Given the description of an element on the screen output the (x, y) to click on. 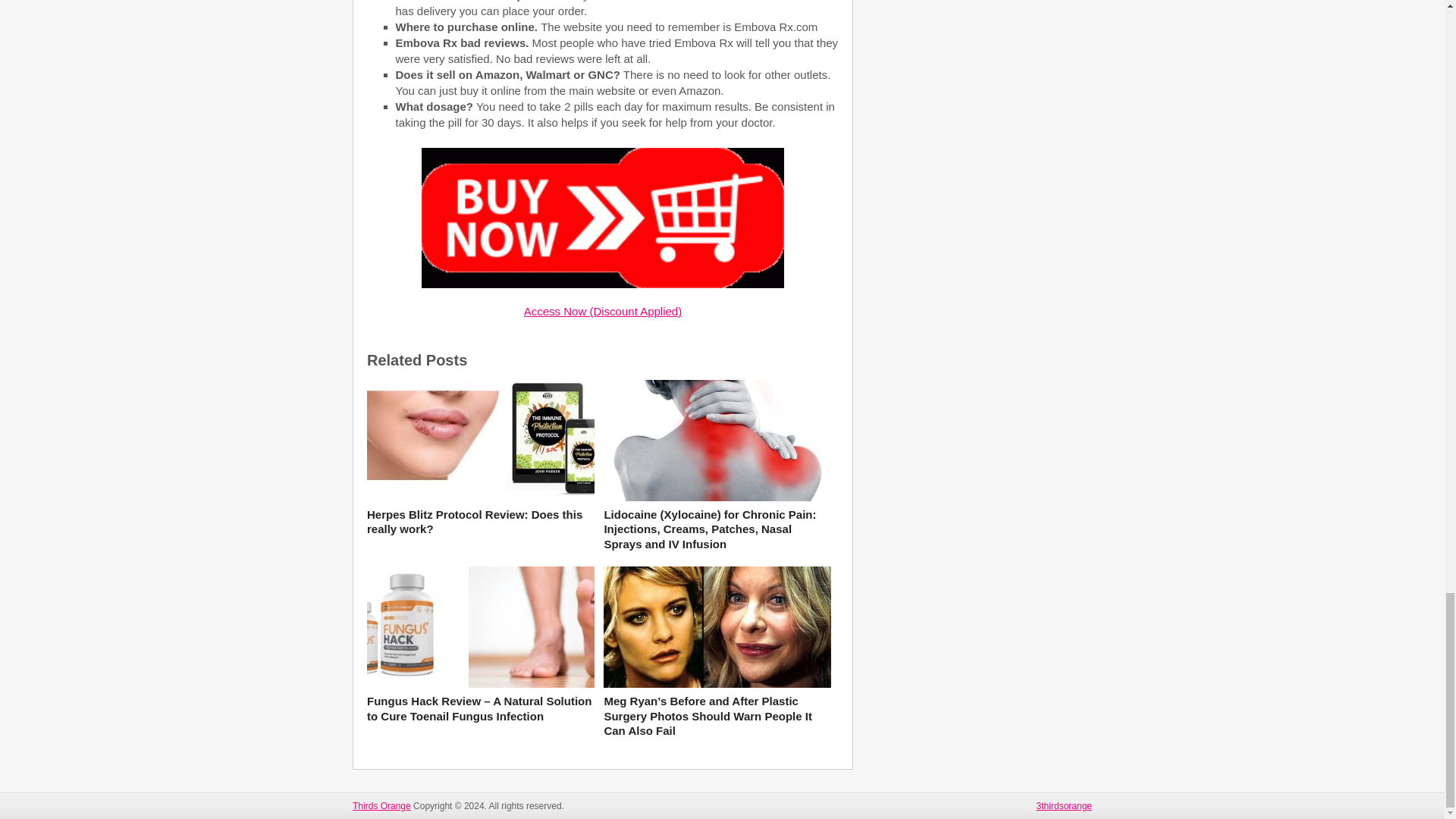
3thirdsorange (1064, 805)
Herpes Blitz Protocol Review: Does this really work? (480, 521)
Herpes Blitz Protocol Review: Does this really work? (480, 521)
Thirds Orange (381, 805)
